Given the description of an element on the screen output the (x, y) to click on. 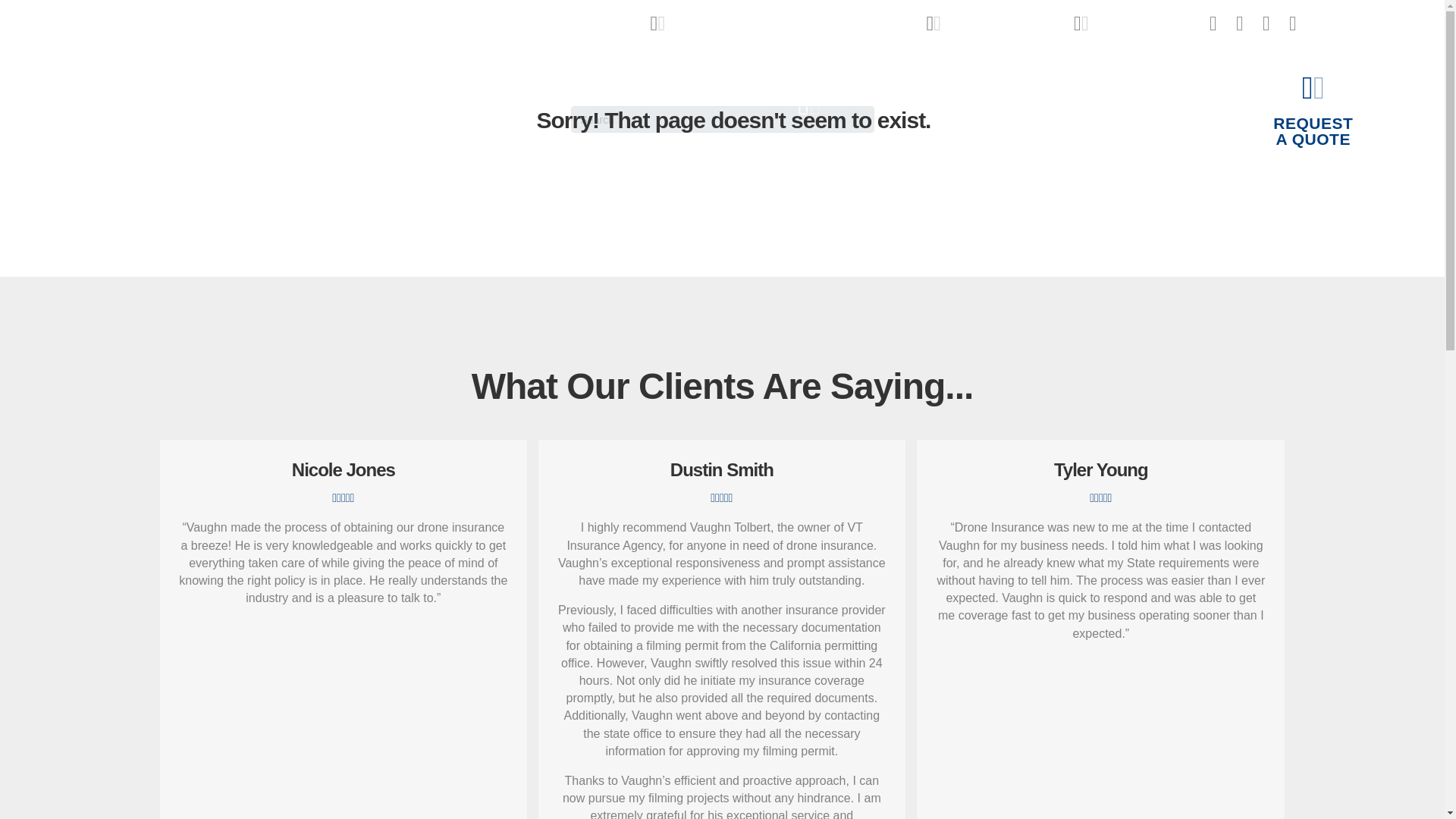
PARTNERS (1103, 117)
Type and press Enter to search. (1312, 109)
CONTACT (785, 22)
ABOUT (721, 119)
INSURANCE (1139, 22)
White Logo Horizontal White Text (1211, 117)
